Given the description of an element on the screen output the (x, y) to click on. 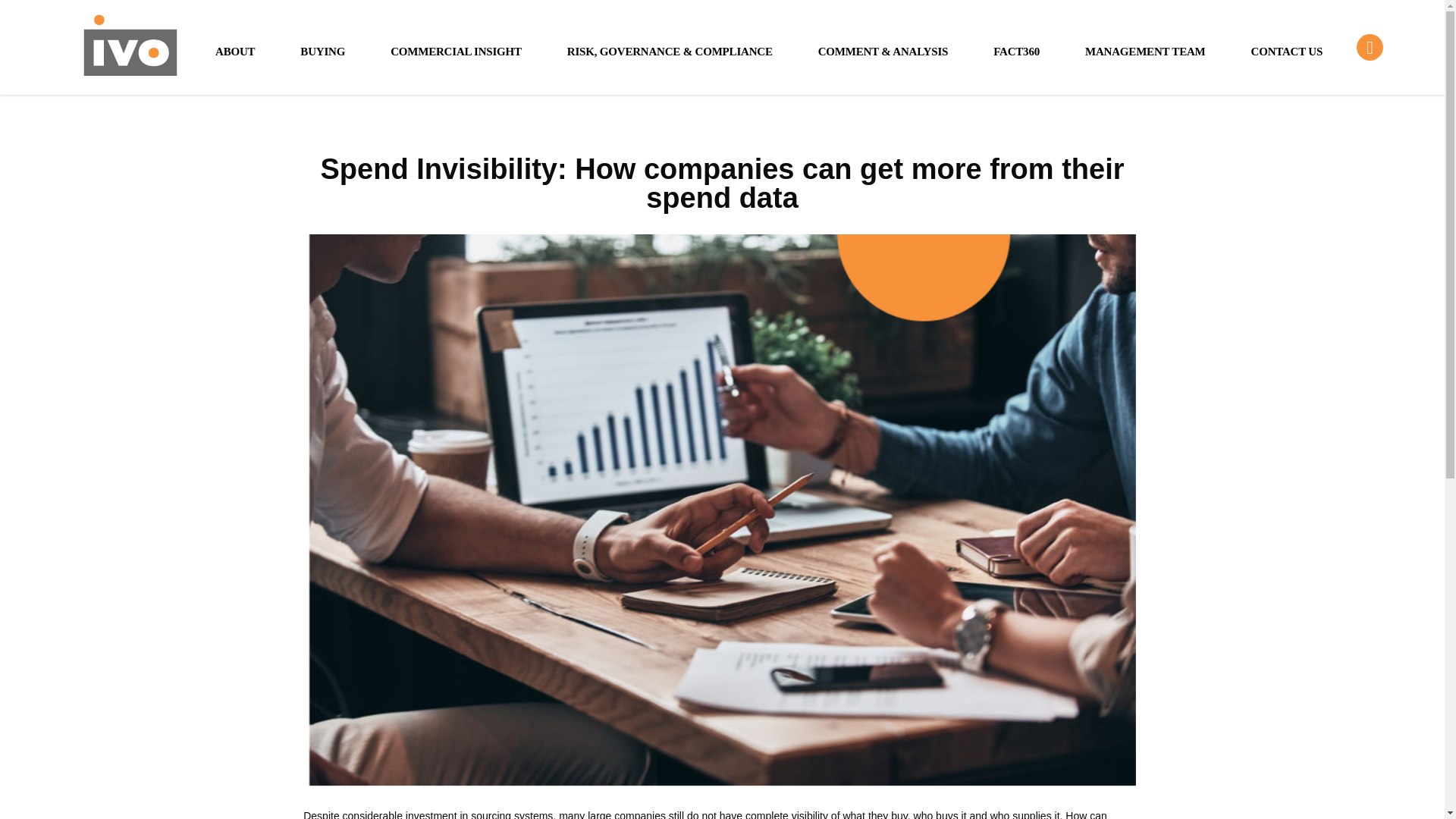
ABOUT (234, 50)
Social item (1369, 47)
FACT360 (1016, 50)
COMMERCIAL INSIGHT (455, 50)
CONTACT US (1287, 50)
MANAGEMENT TEAM (1145, 50)
BUYING (322, 50)
